Given the description of an element on the screen output the (x, y) to click on. 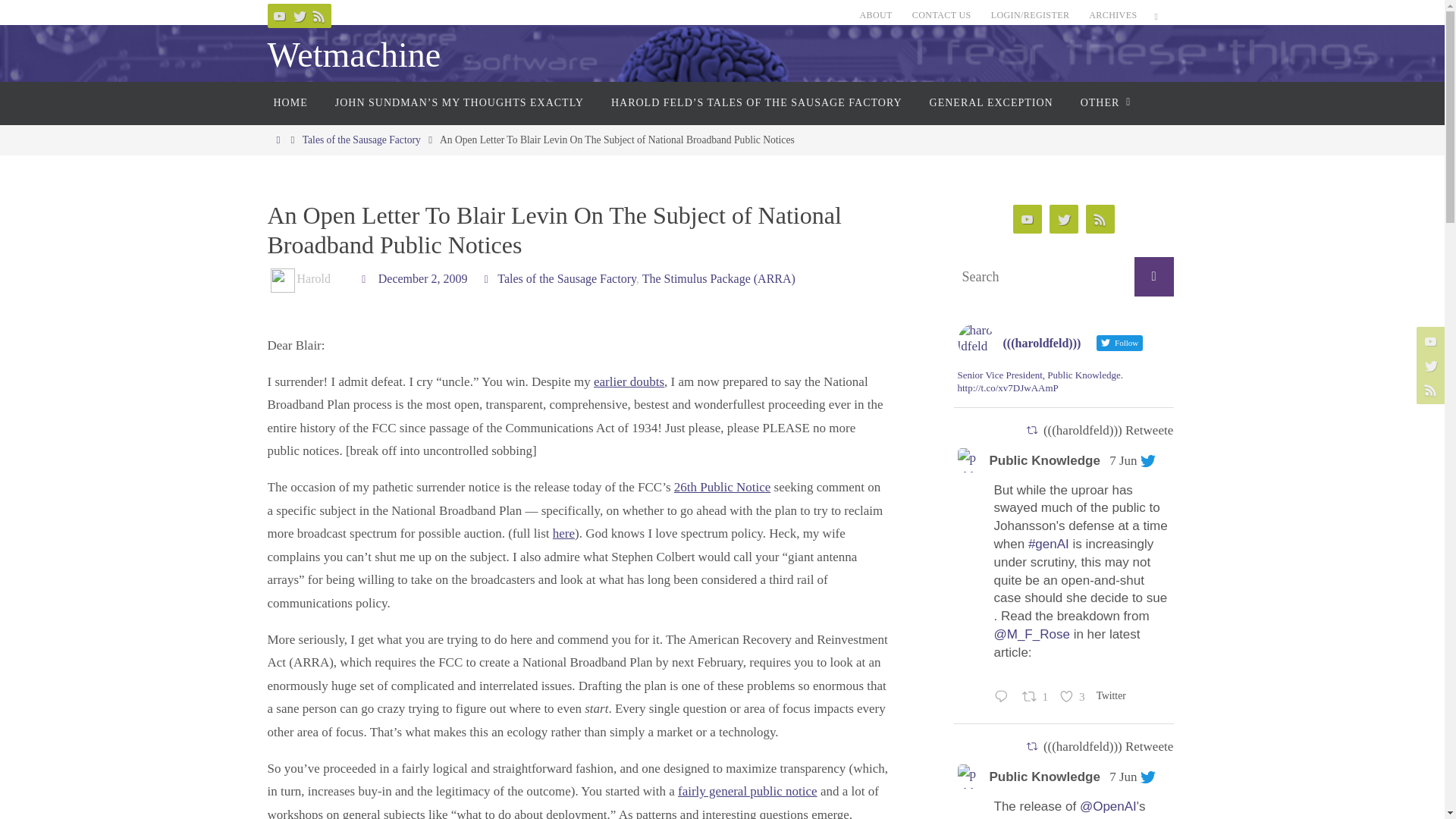
December 2, 2009 (422, 278)
CONTACT US (941, 14)
here (564, 533)
Date (365, 278)
Wetmachine (353, 55)
YouTube (278, 15)
Tales of the Sausage Factory (566, 278)
ARCHIVES (1112, 14)
RSS (317, 15)
earlier doubts (628, 381)
ABOUT (875, 14)
Wetmachine (353, 55)
Home (277, 139)
fairly general public notice (747, 790)
OTHER (1102, 102)
